Given the description of an element on the screen output the (x, y) to click on. 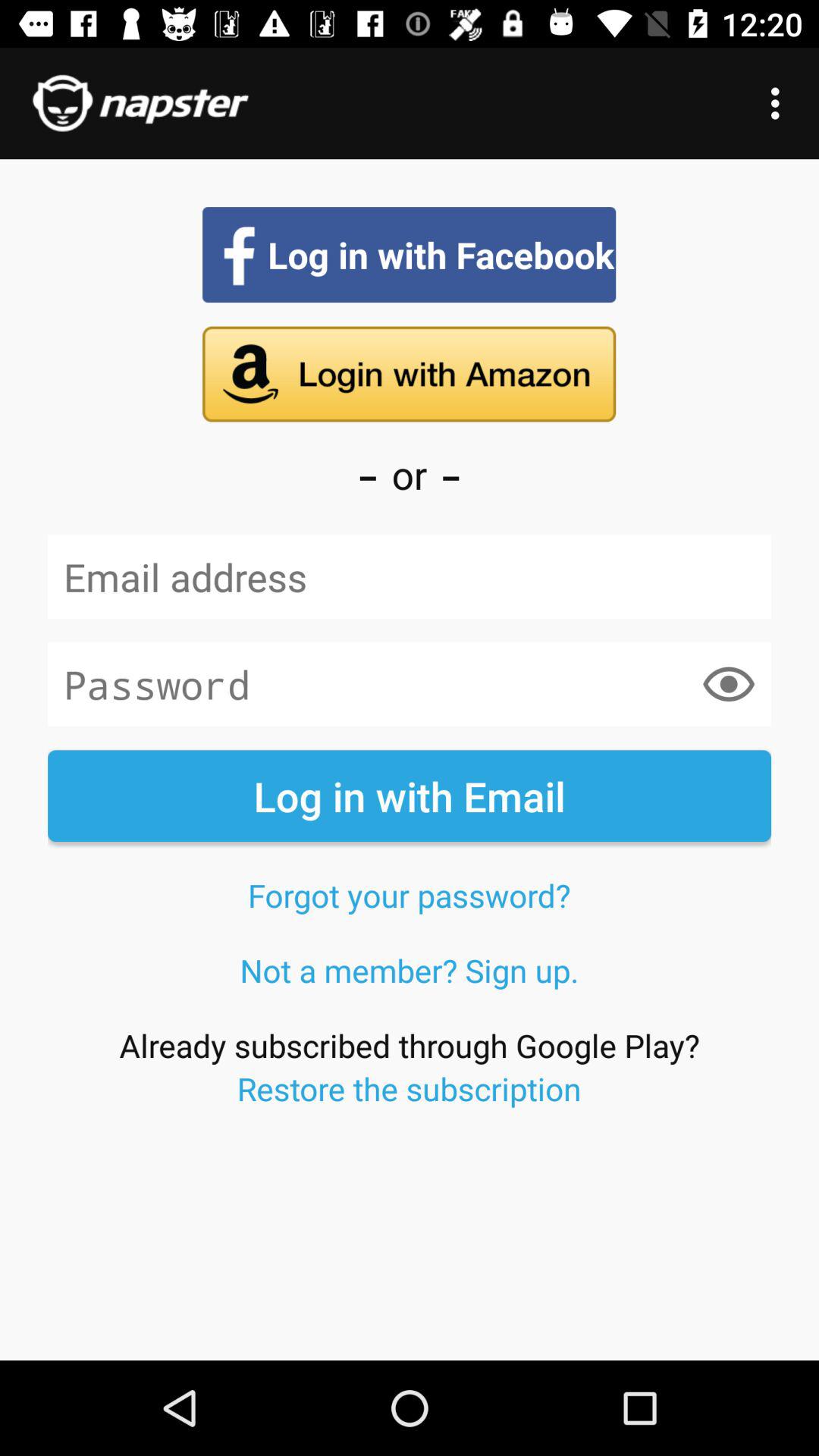
click icon below the log in with item (408, 894)
